Given the description of an element on the screen output the (x, y) to click on. 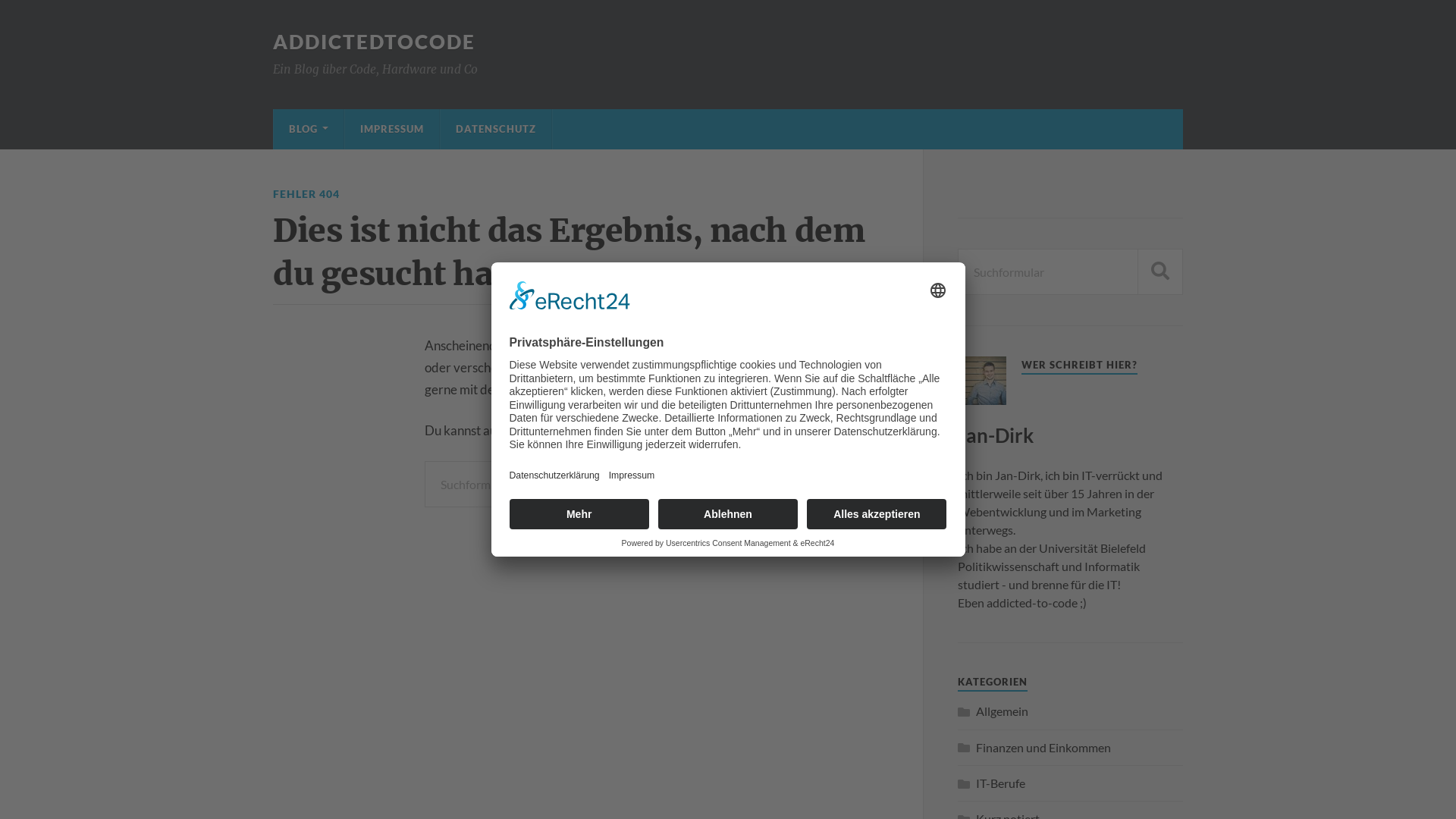
DATENSCHUTZ Element type: text (495, 129)
IT-Berufe Element type: text (1000, 782)
ADDICTEDTOCODE Element type: text (374, 41)
Finanzen und Einkommen Element type: text (1042, 747)
Startseite Element type: text (559, 430)
BLOG Element type: text (308, 129)
IMPRESSUM Element type: text (392, 129)
Allgemein Element type: text (1001, 710)
